Given the description of an element on the screen output the (x, y) to click on. 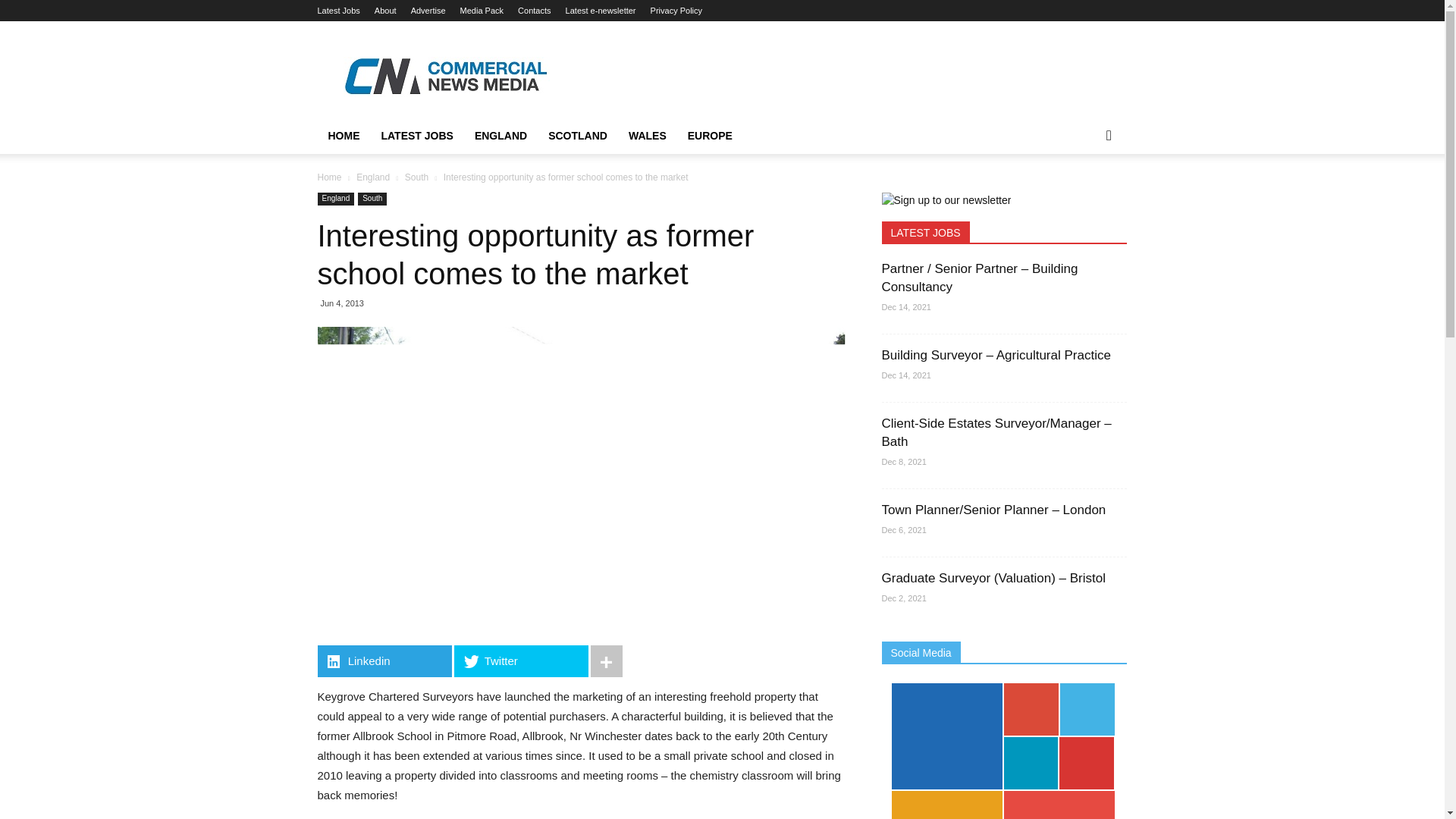
Media Pack (481, 10)
Advertise (427, 10)
Latest Jobs (338, 10)
Test title attribute (343, 135)
About (385, 10)
HOME (343, 135)
LATEST JOBS (416, 135)
Latest e-newsletter (601, 10)
Contacts (534, 10)
Privacy Policy (675, 10)
ENGLAND (500, 135)
